Given the description of an element on the screen output the (x, y) to click on. 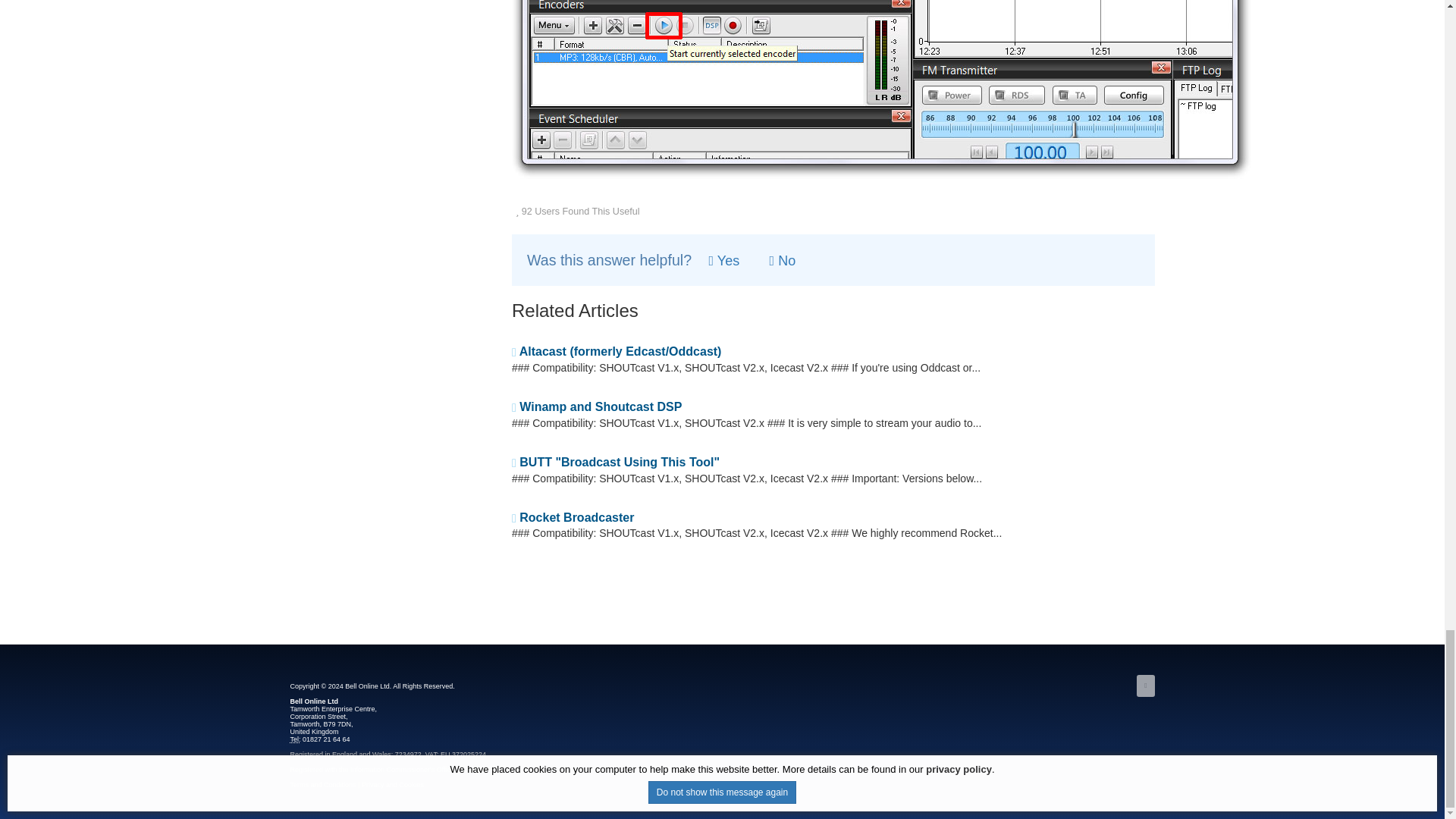
Phone (294, 738)
